Given the description of an element on the screen output the (x, y) to click on. 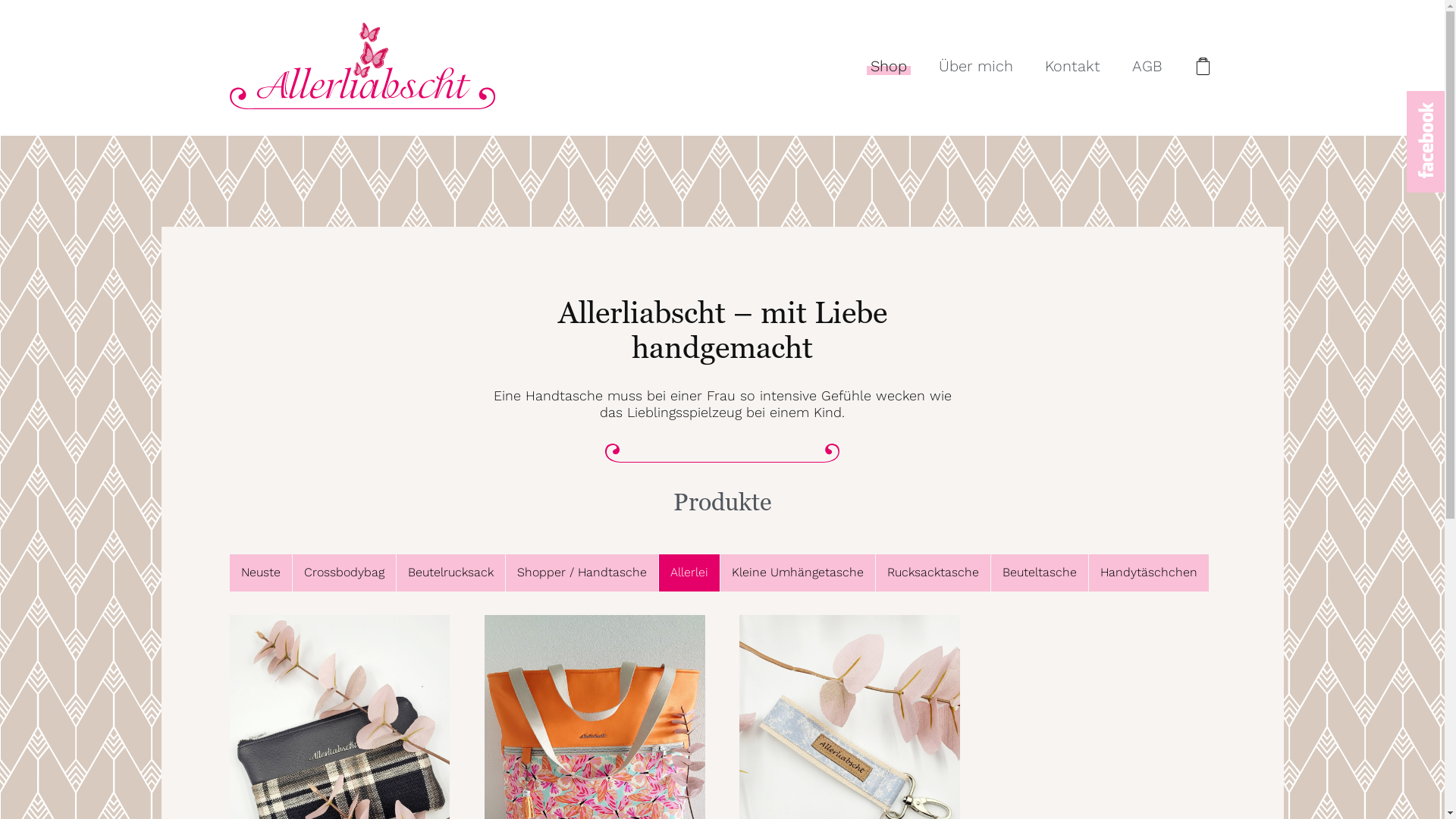
Rucksacktasche Element type: text (932, 572)
Beuteltasche Element type: text (1038, 572)
Allerliabscht - mit Liebe handgemacht Element type: hover (361, 65)
Beutelrucksack Element type: text (449, 572)
Folge Allerliabscht auf Facebook Element type: hover (1425, 140)
Shopper / Handtasche Element type: text (581, 572)
Allerlei Element type: text (688, 572)
Kontakt Element type: text (1071, 66)
Folge Allerliabscht auf Facebook Element type: hover (1425, 141)
Crossbodybag Element type: text (343, 572)
Shop Element type: text (888, 66)
Neuste Element type: text (260, 572)
Startseite allerliabscht.ch Element type: hover (361, 67)
AGB Element type: text (1147, 66)
